Given the description of an element on the screen output the (x, y) to click on. 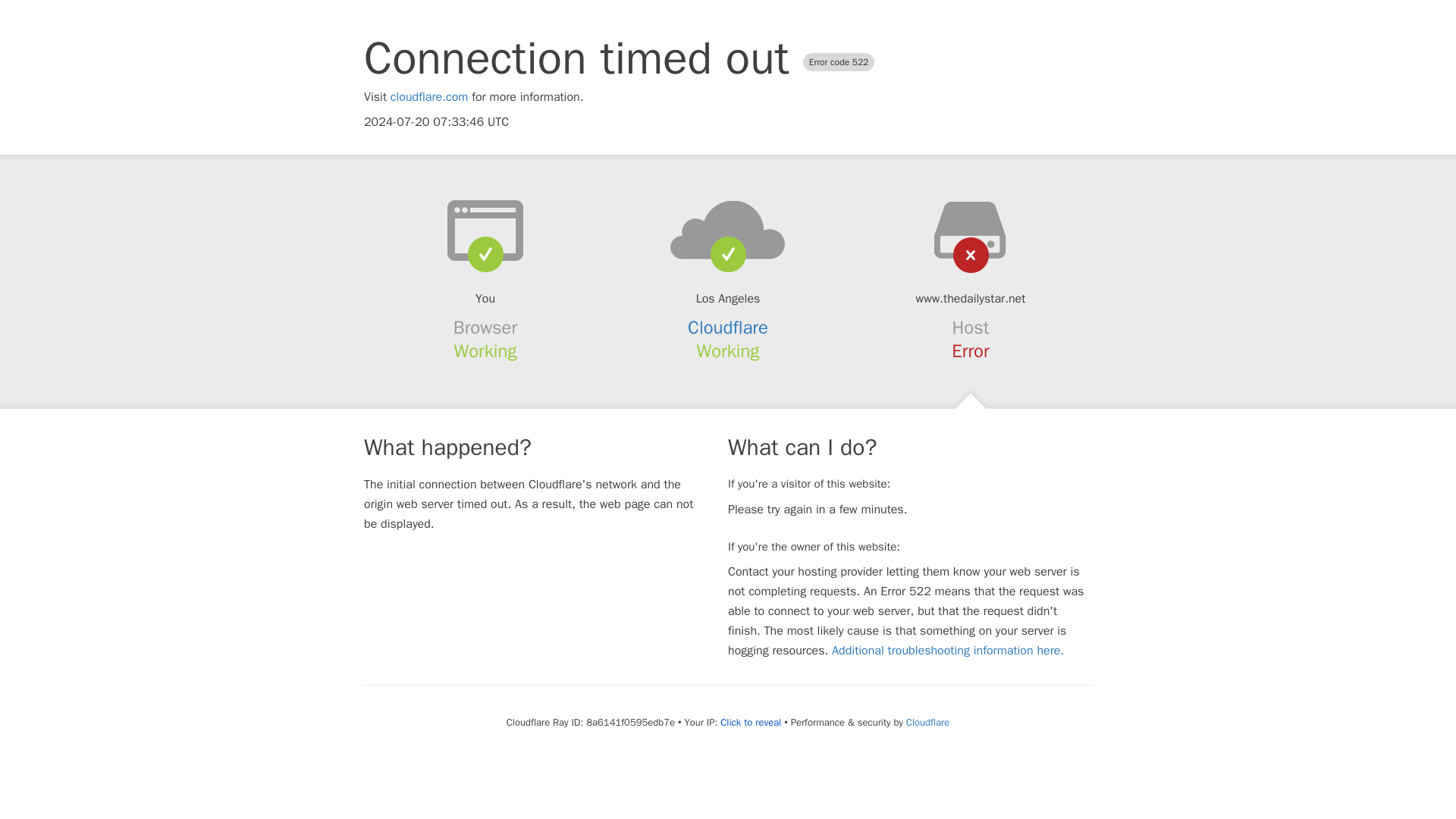
Cloudflare (727, 327)
Additional troubleshooting information here. (947, 650)
Cloudflare (927, 721)
cloudflare.com (429, 96)
Click to reveal (750, 722)
